Given the description of an element on the screen output the (x, y) to click on. 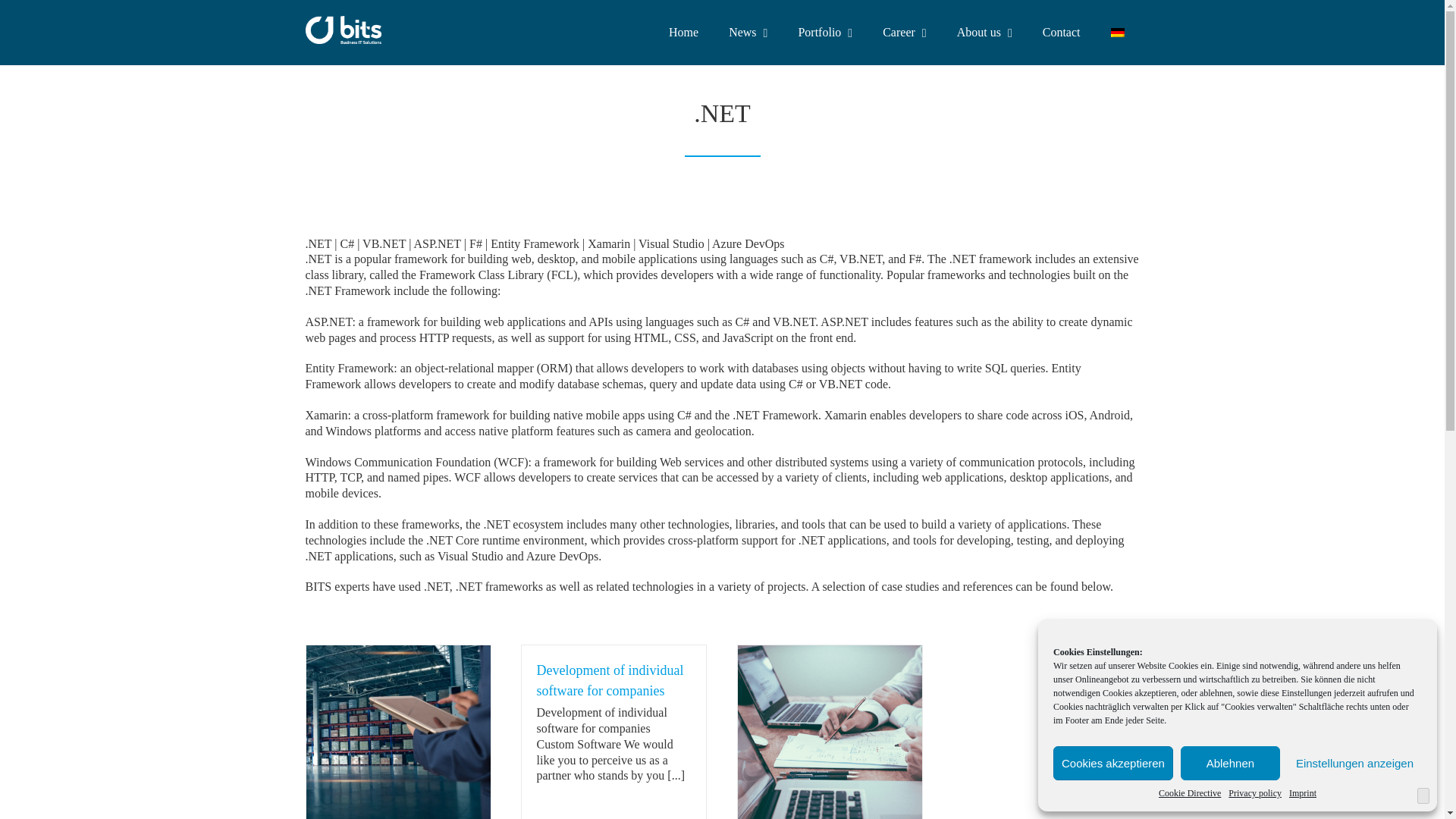
Privacy policy (1254, 793)
Portfolio (825, 32)
Cookie Directive (1189, 793)
Ablehnen (1229, 763)
Cookies akzeptieren (1112, 763)
Career (903, 32)
News (748, 32)
Einstellungen anzeigen (1354, 763)
Home (683, 32)
Imprint (1302, 793)
